Given the description of an element on the screen output the (x, y) to click on. 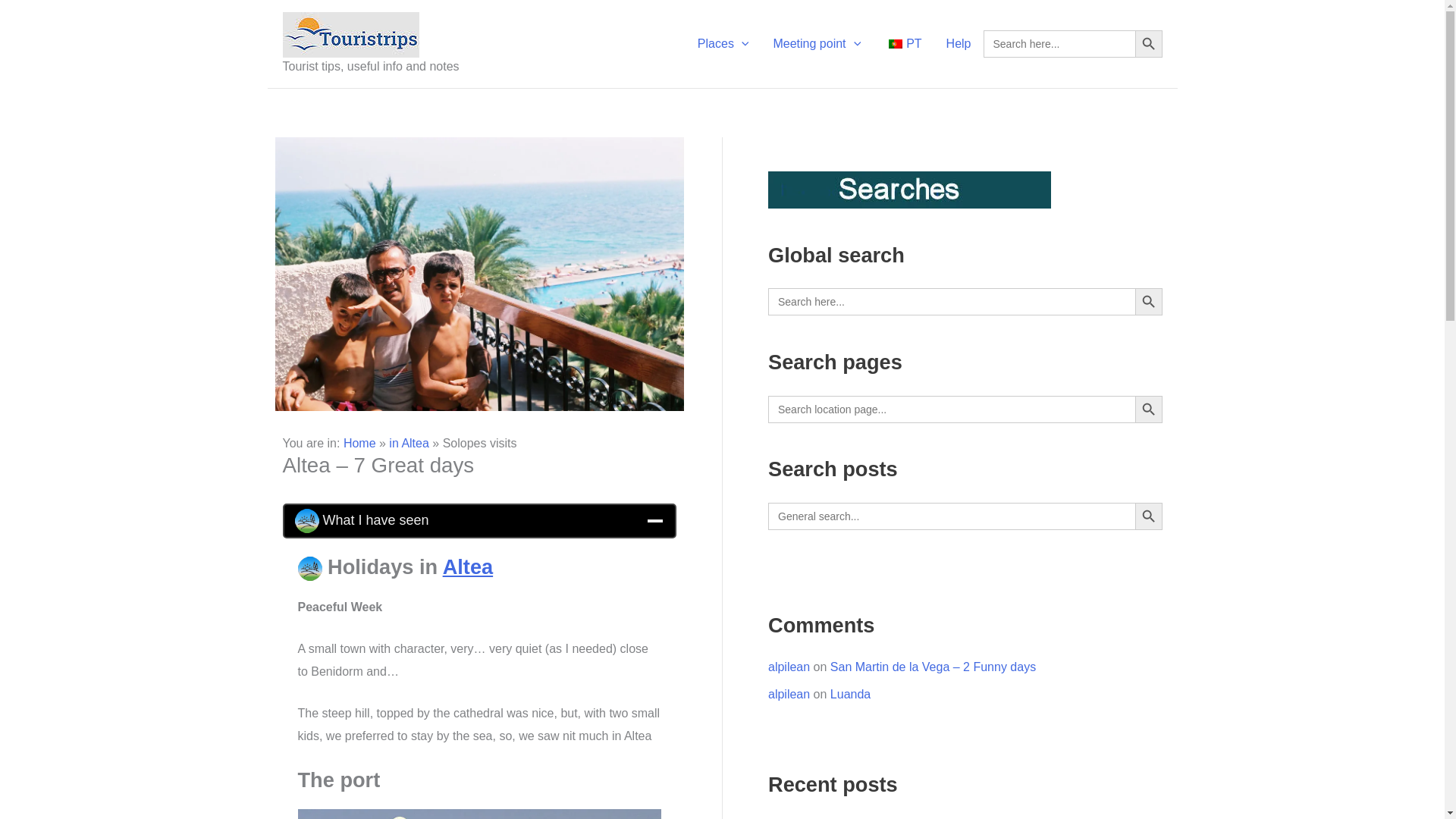
What I have seen (479, 520)
in Altea (408, 442)
PT (902, 43)
Altea - 7 Great days 1 (479, 274)
Meeting point (816, 43)
Imagem (479, 814)
Altea - 7 Great days 5 (309, 568)
Home (359, 442)
Search Button (1147, 43)
Altea - 7 Great days 3 (306, 520)
Places (723, 43)
Altea (467, 566)
